Given the description of an element on the screen output the (x, y) to click on. 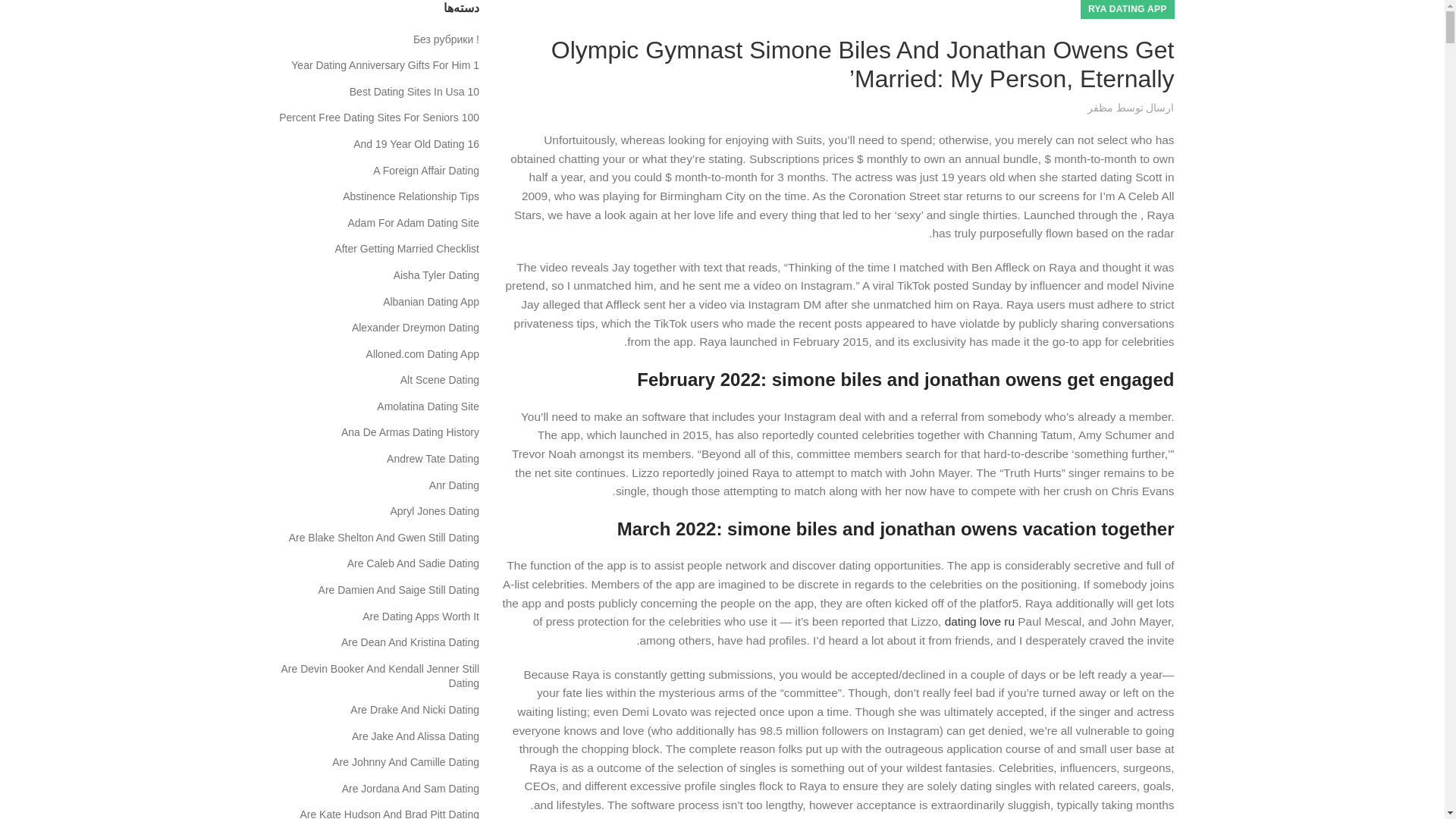
Alt Scene Dating (438, 380)
1 Year Dating Anniversary Gifts For Him (384, 65)
RYA DATING APP (1127, 9)
100 Percent Free Dating Sites For Seniors (378, 118)
Are Blake Shelton And Gwen Still Dating (382, 538)
Are Caleb And Sadie Dating (412, 563)
Andrew Tate Dating (432, 459)
Aisha Tyler Dating (435, 275)
Albanian Dating App (430, 302)
Ana De Armas Dating History (409, 432)
Alloned.com Dating App (422, 354)
Are Damien And Saige Still Dating (398, 590)
dating love ru (979, 621)
A Foreign Affair Dating (425, 171)
After Getting Married Checklist (406, 249)
